Given the description of an element on the screen output the (x, y) to click on. 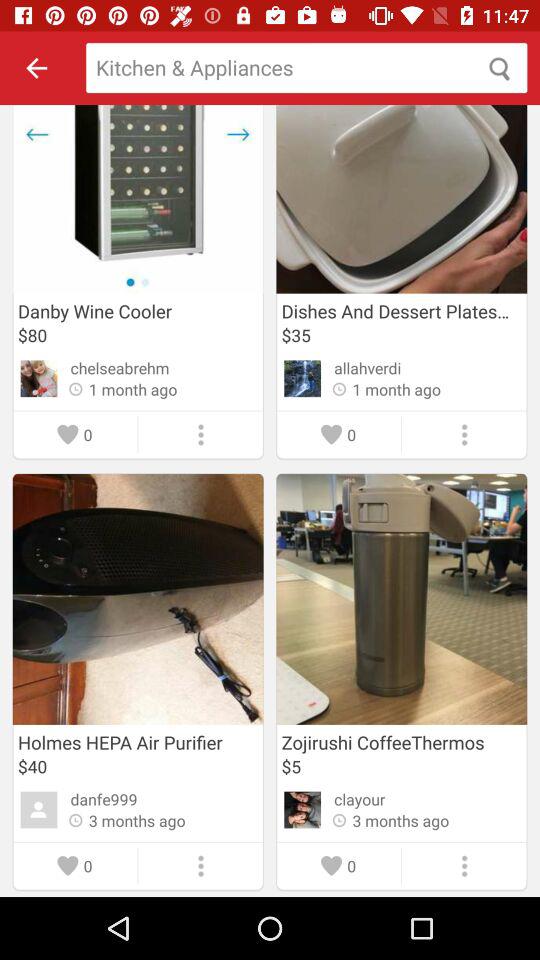
scroll until the chelseabrehm (119, 367)
